Given the description of an element on the screen output the (x, y) to click on. 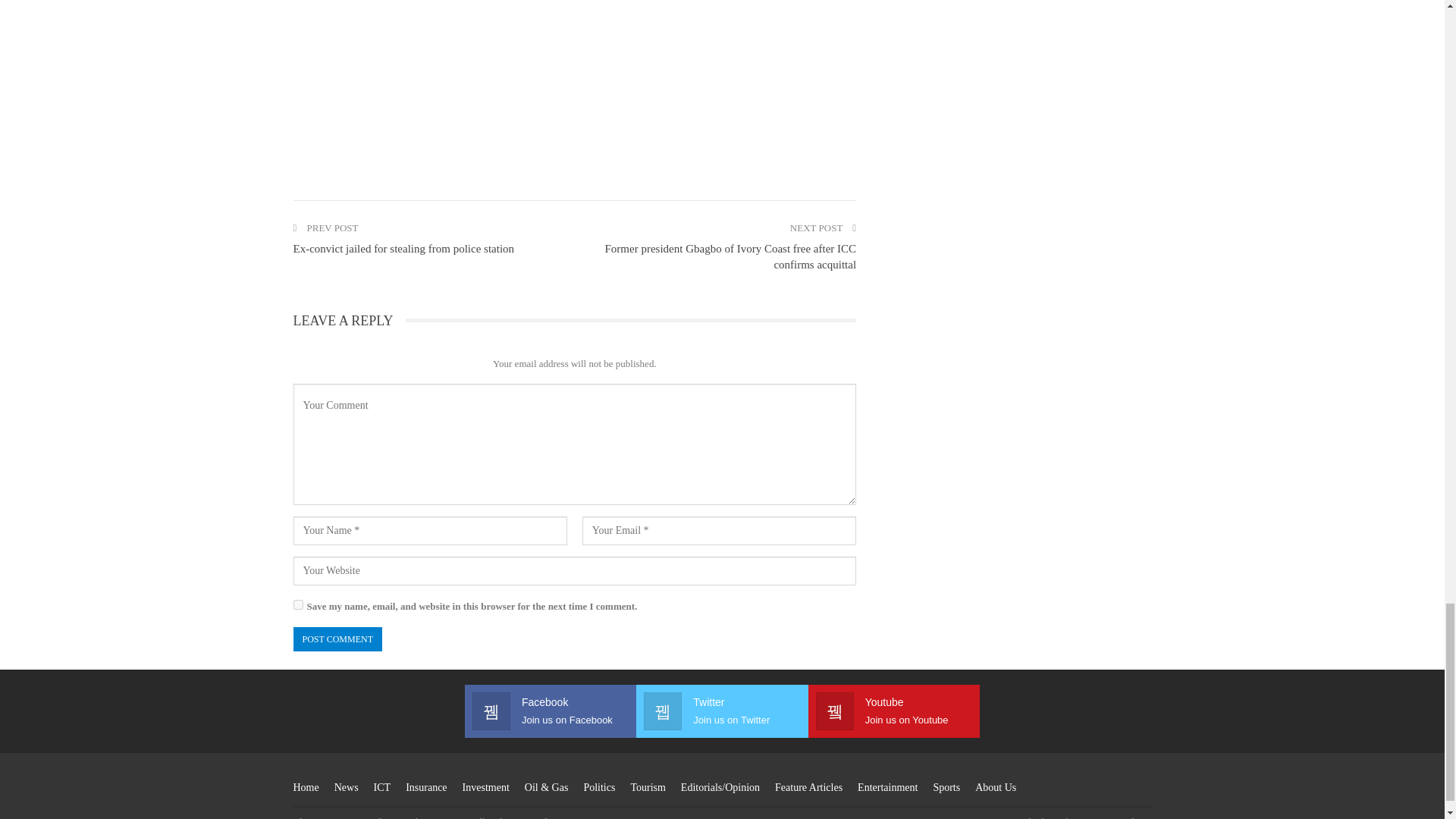
yes (297, 604)
Post Comment (336, 638)
Post Comment (336, 638)
Ex-convict jailed for stealing from police station (402, 248)
